Given the description of an element on the screen output the (x, y) to click on. 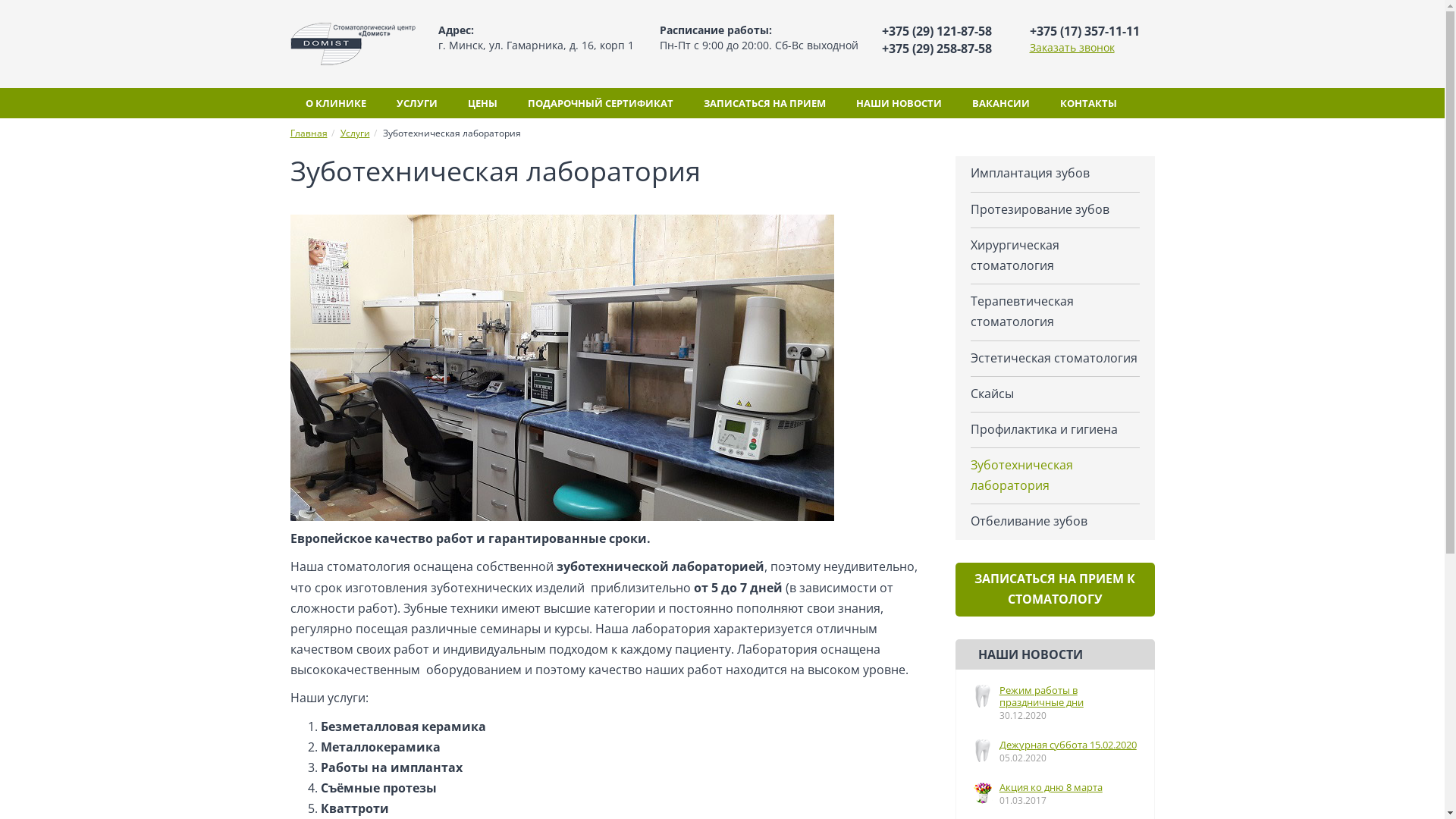
+375 (29) 121-87-58 Element type: text (936, 30)
+375 (29) 258-87-58 Element type: text (936, 48)
Domist Element type: hover (351, 42)
+375 (17) 357-11-11 Element type: text (1084, 30)
